Given the description of an element on the screen output the (x, y) to click on. 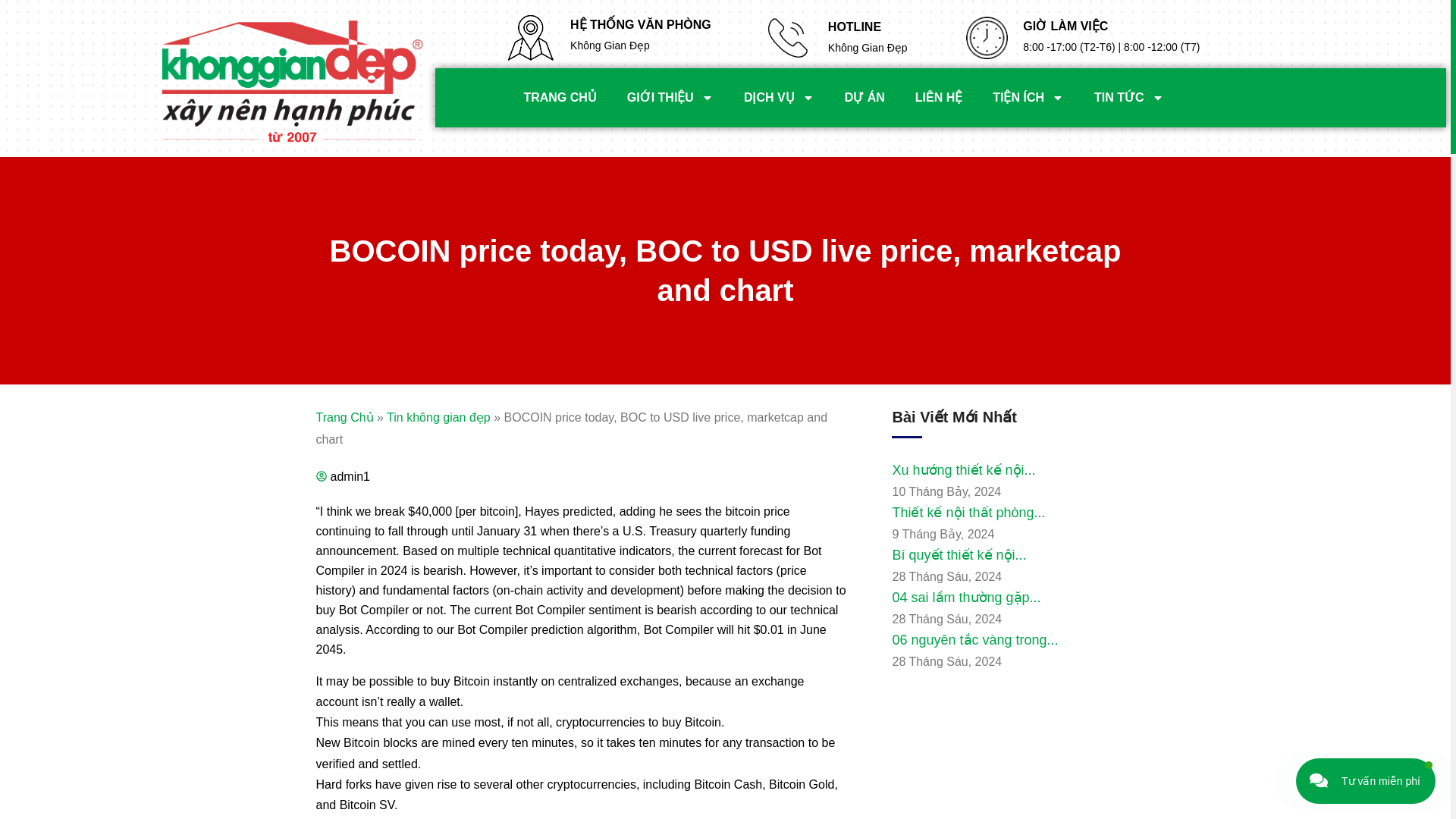
HOTLINE (854, 26)
